Given the description of an element on the screen output the (x, y) to click on. 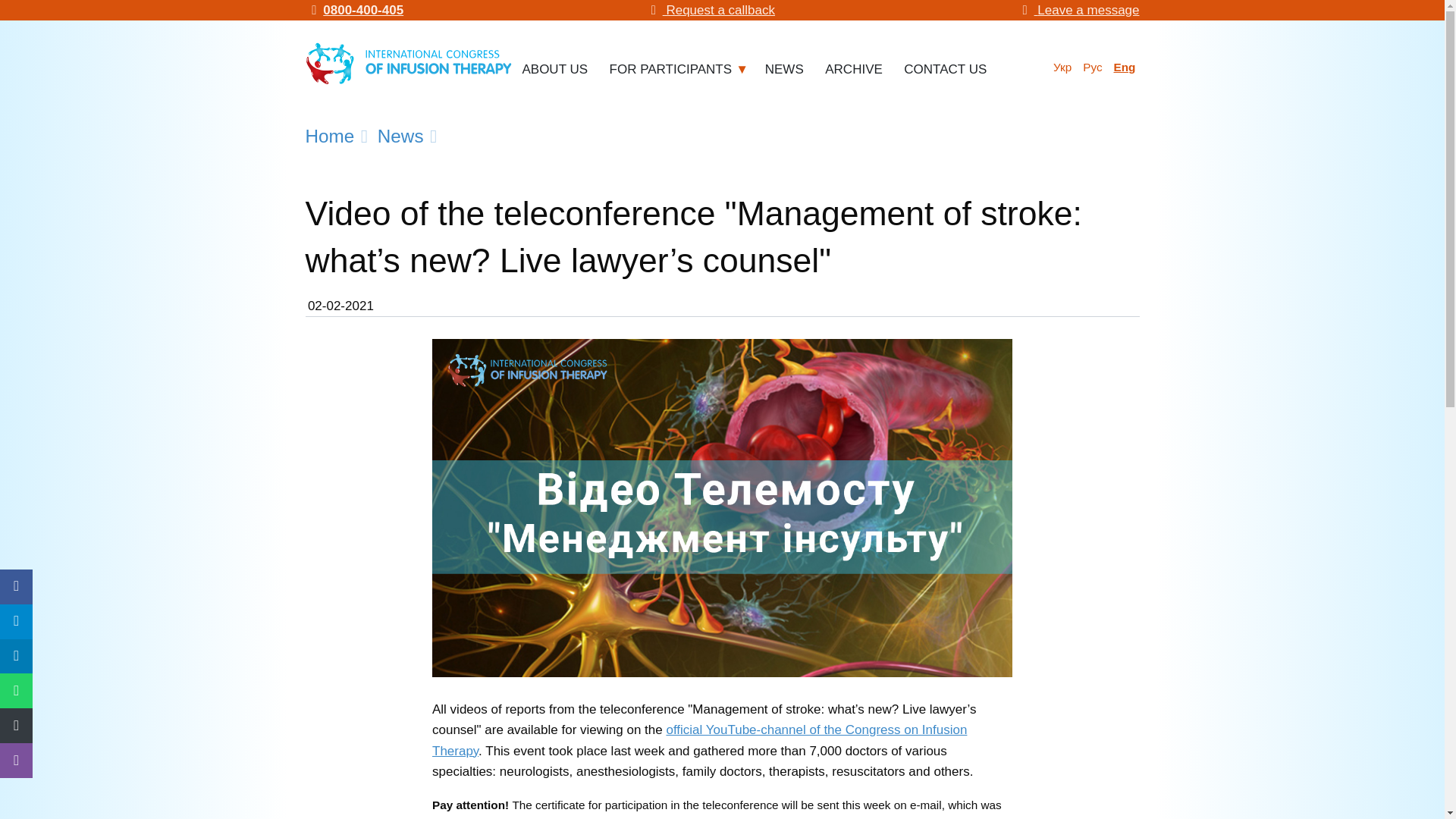
CONTACT US (945, 72)
0800-400-405 (353, 10)
Leave a message (1078, 10)
ABOUT US (554, 72)
ARCHIVE (853, 72)
Request a callback (709, 10)
News (410, 136)
NEWS (783, 72)
official YouTube-channel of the Congress on Infusion Therapy (699, 739)
Home (339, 136)
